Given the description of an element on the screen output the (x, y) to click on. 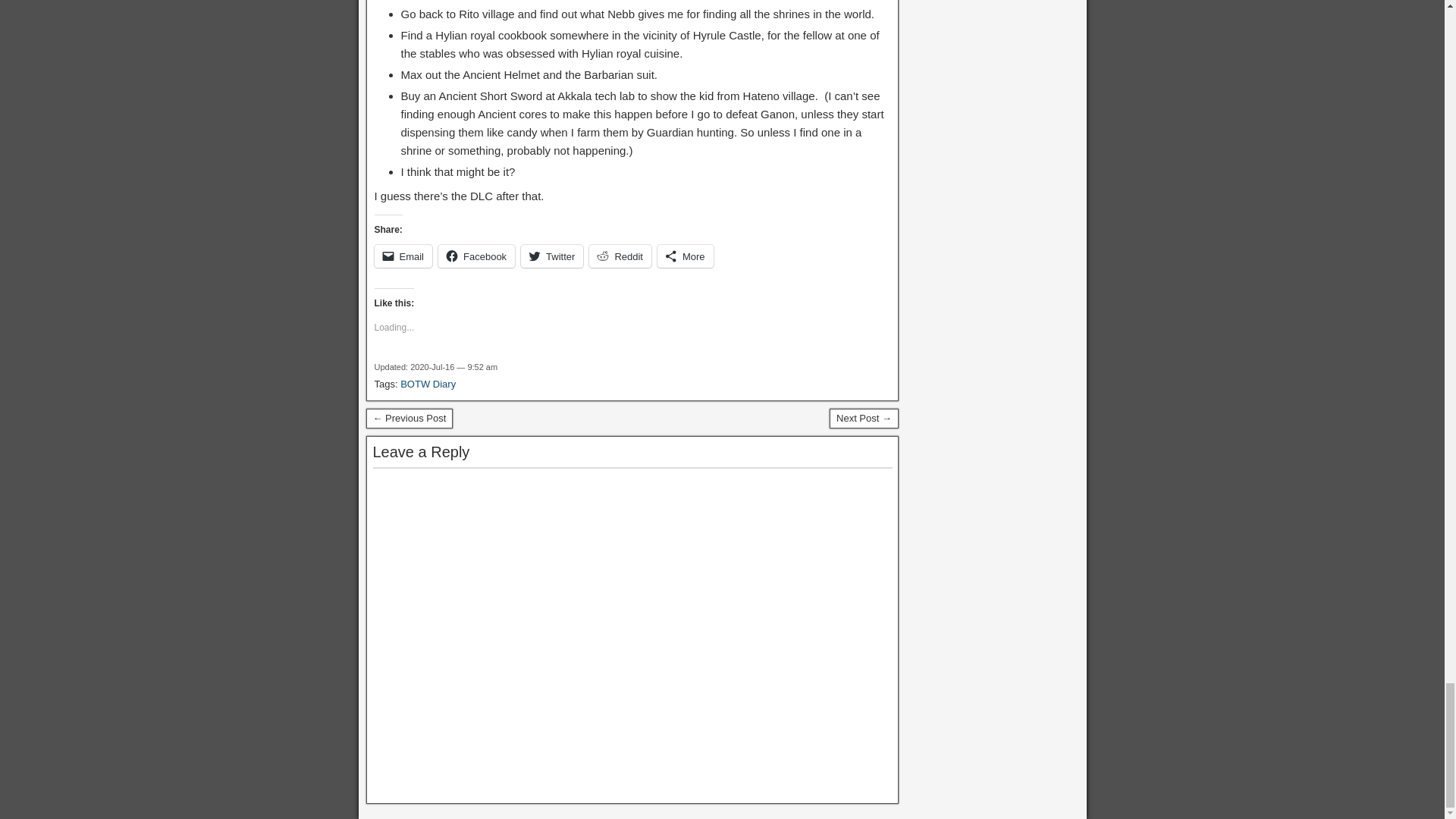
Click to share on Twitter (552, 255)
I never liked Donkey Kong (863, 418)
Click to share on Reddit (619, 255)
Click to share on Facebook (476, 255)
Click to email a link to a friend (403, 255)
